Given the description of an element on the screen output the (x, y) to click on. 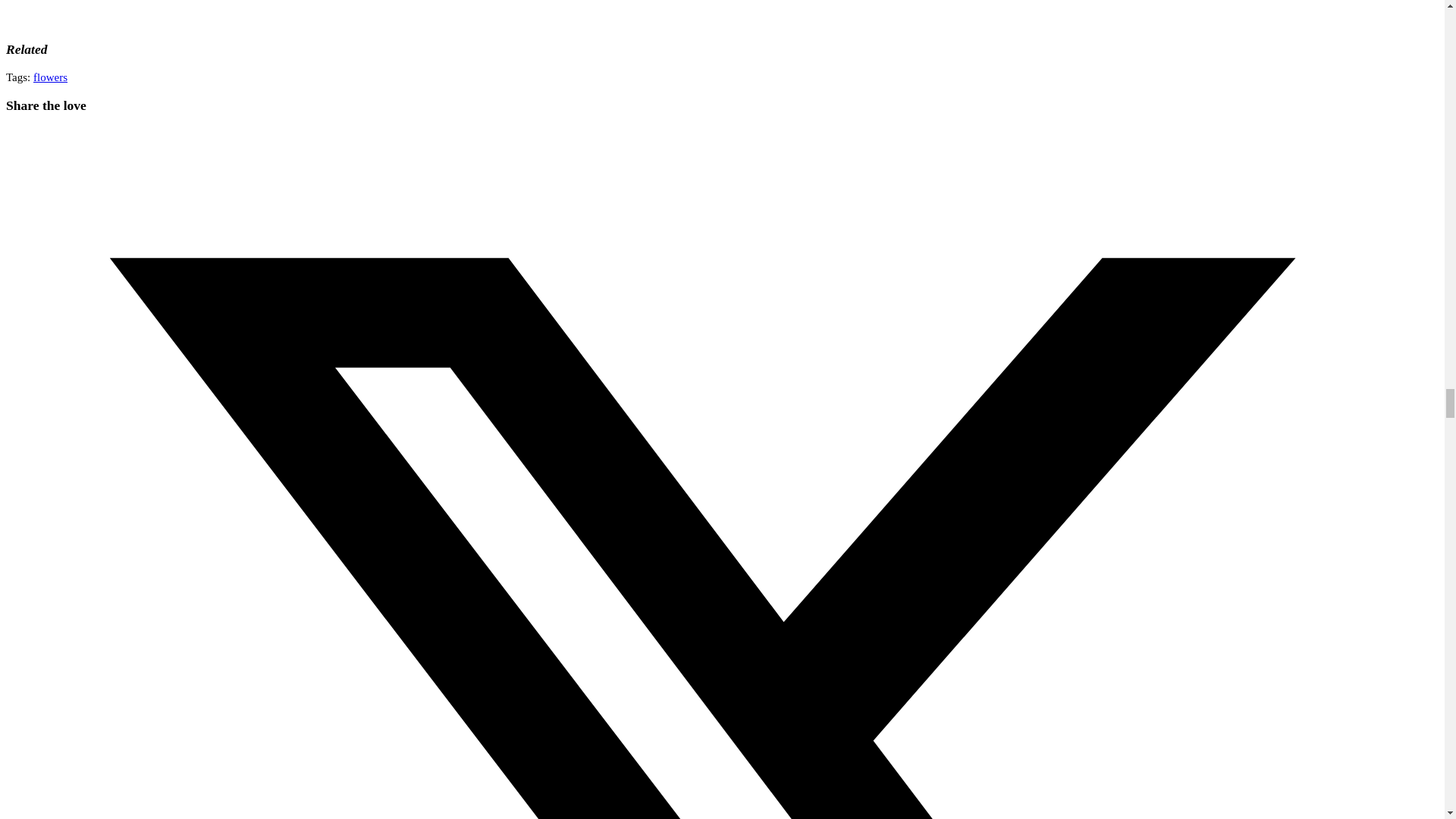
flowers (49, 77)
